Given the description of an element on the screen output the (x, y) to click on. 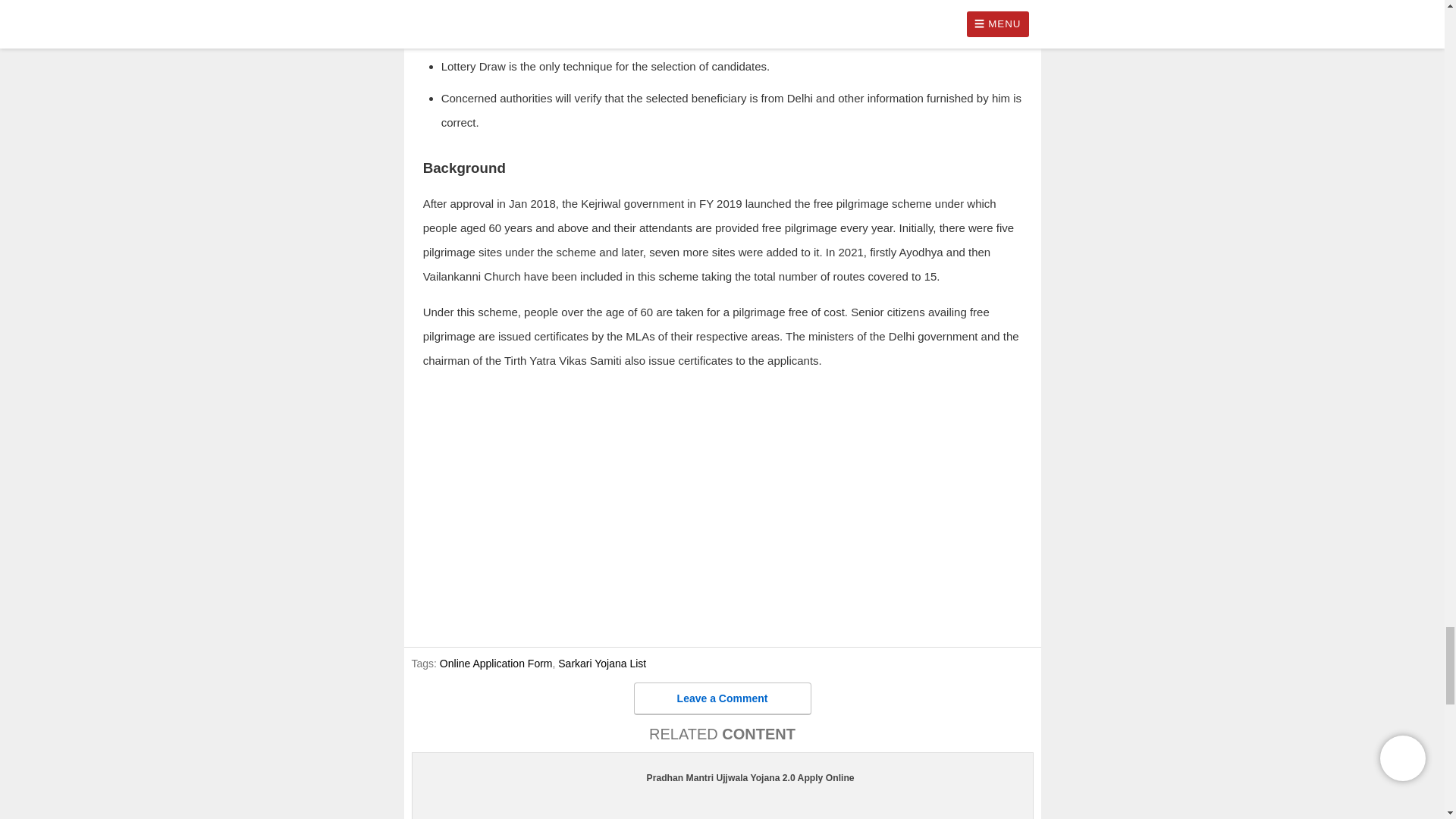
Sarkari Yojana List (601, 663)
Pradhan Mantri Ujjwala Yojana 2.0 Apply Online (721, 778)
Online Application Form (496, 663)
Leave a Comment (721, 698)
